Given the description of an element on the screen output the (x, y) to click on. 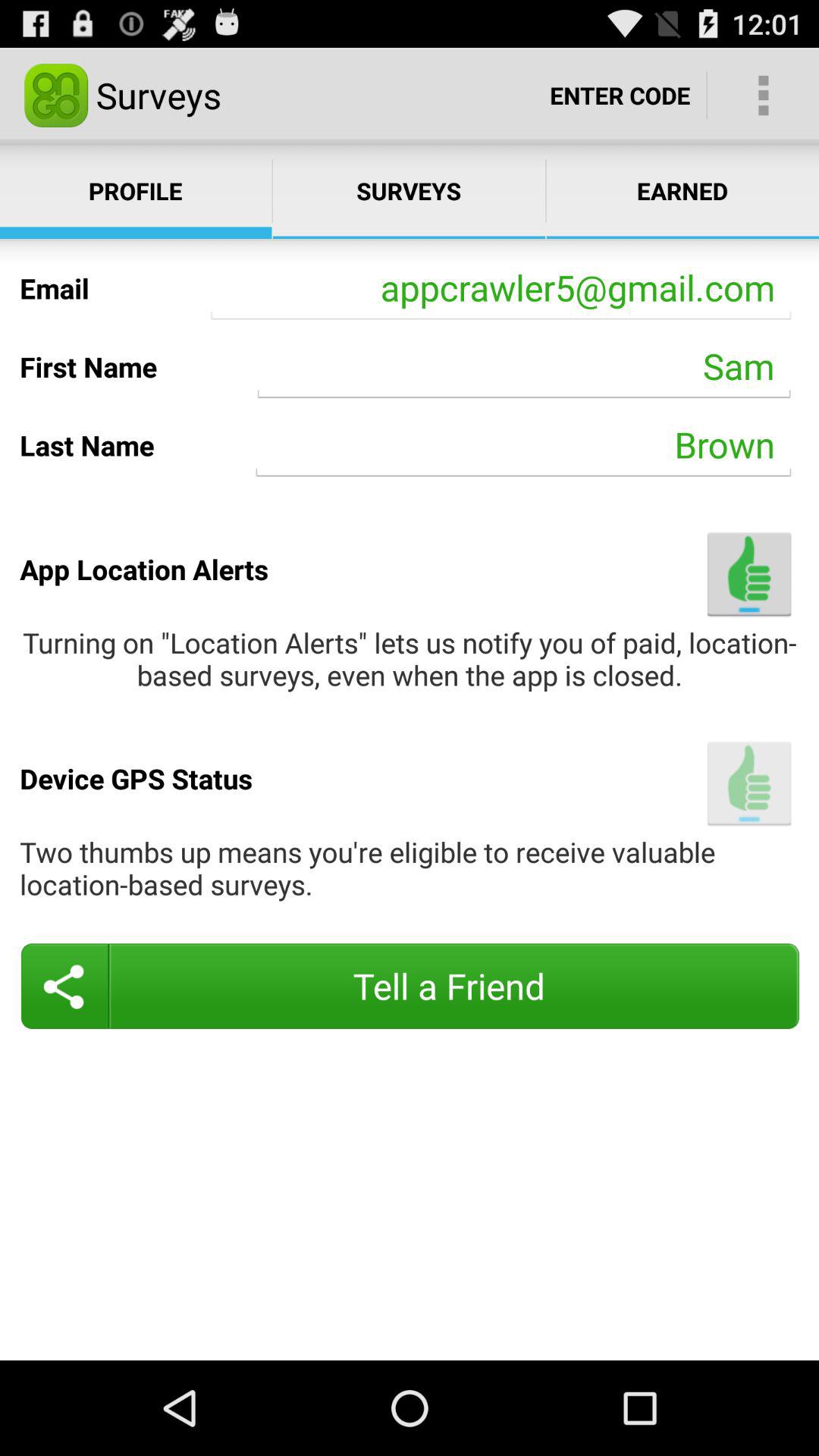
tap icon above the earned icon (620, 95)
